Given the description of an element on the screen output the (x, y) to click on. 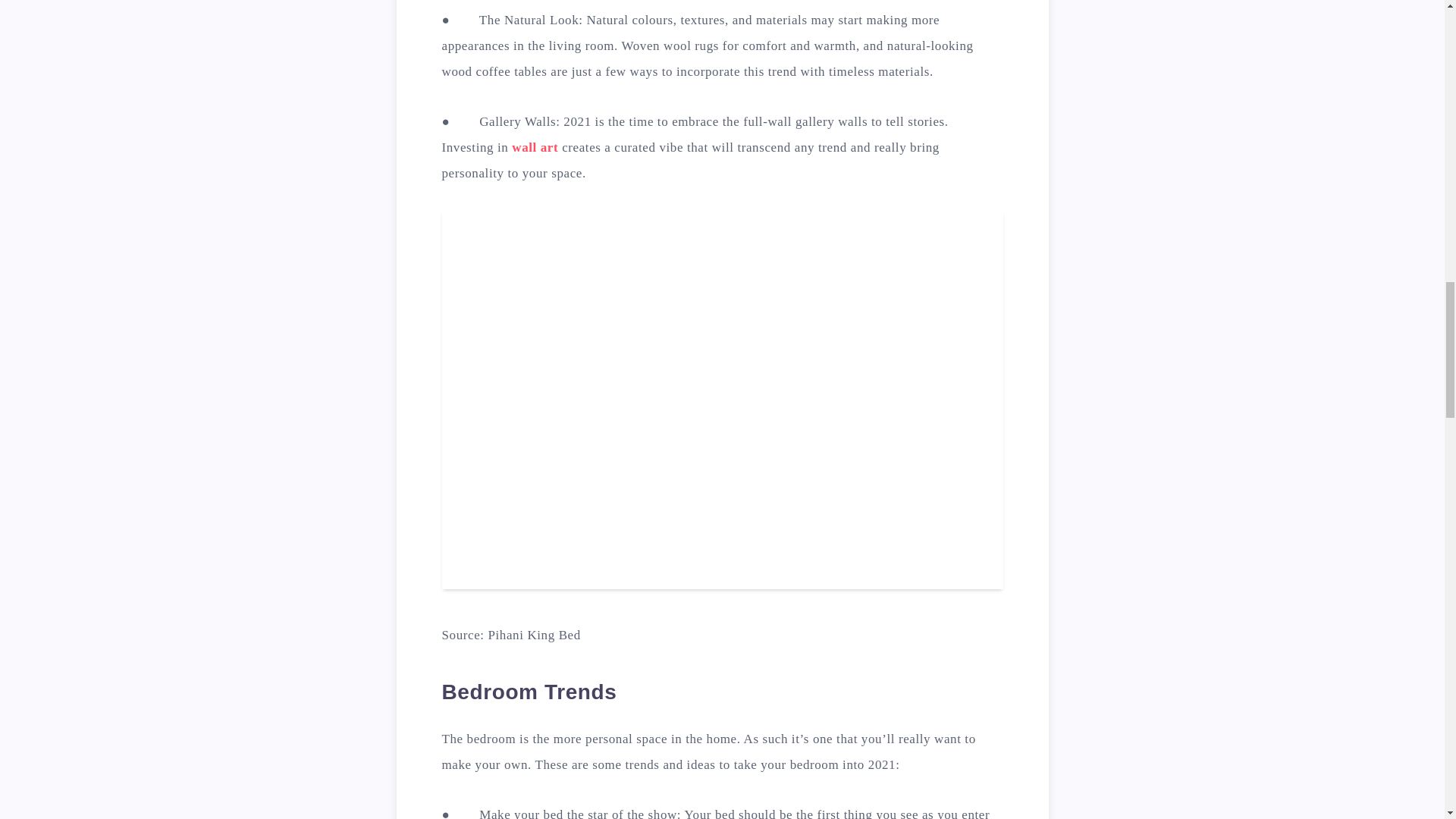
wall art (534, 147)
